Given the description of an element on the screen output the (x, y) to click on. 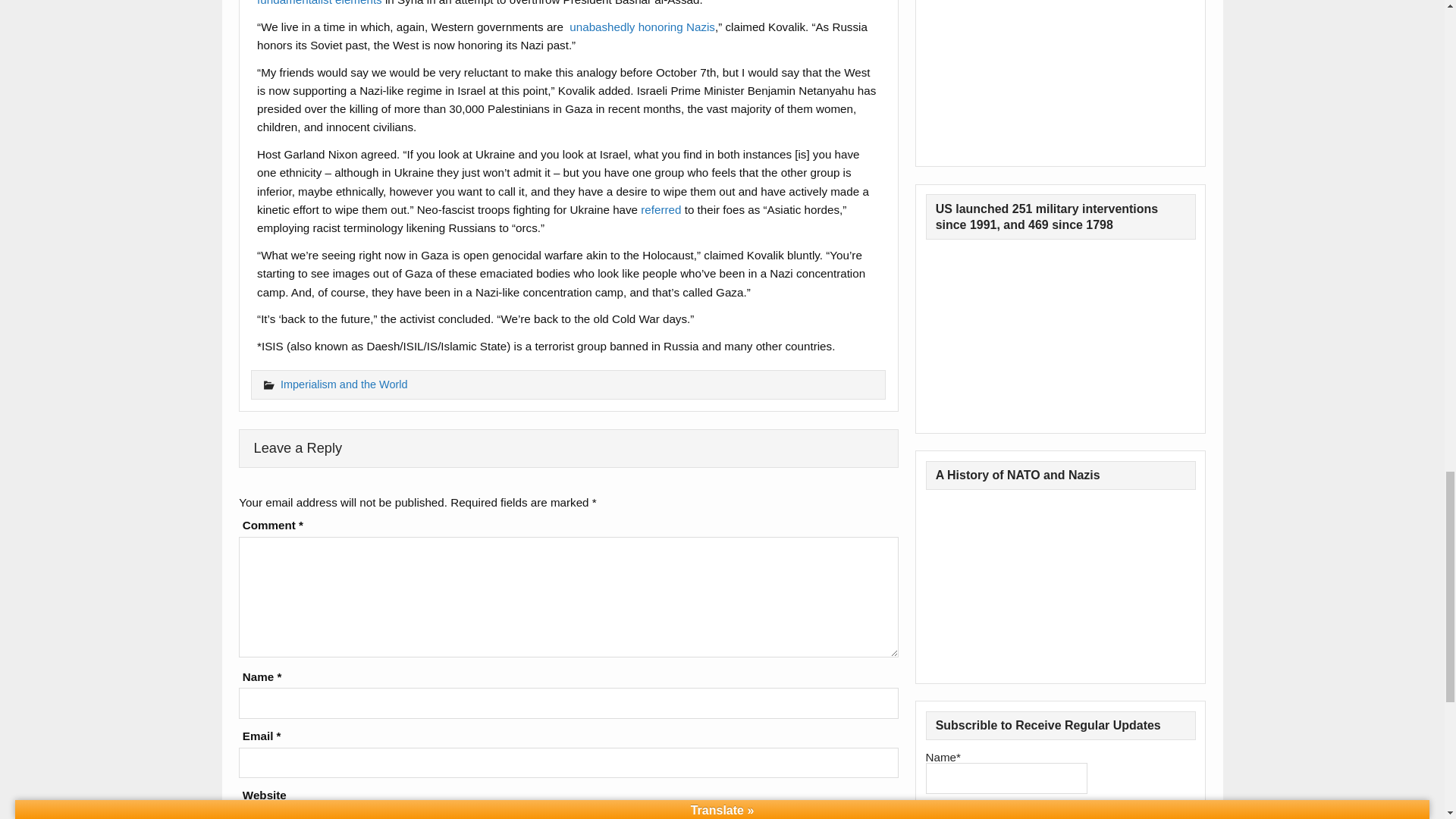
Imperialism and the World (344, 384)
referred (660, 209)
unabashedly honoring Nazis (641, 26)
